Given the description of an element on the screen output the (x, y) to click on. 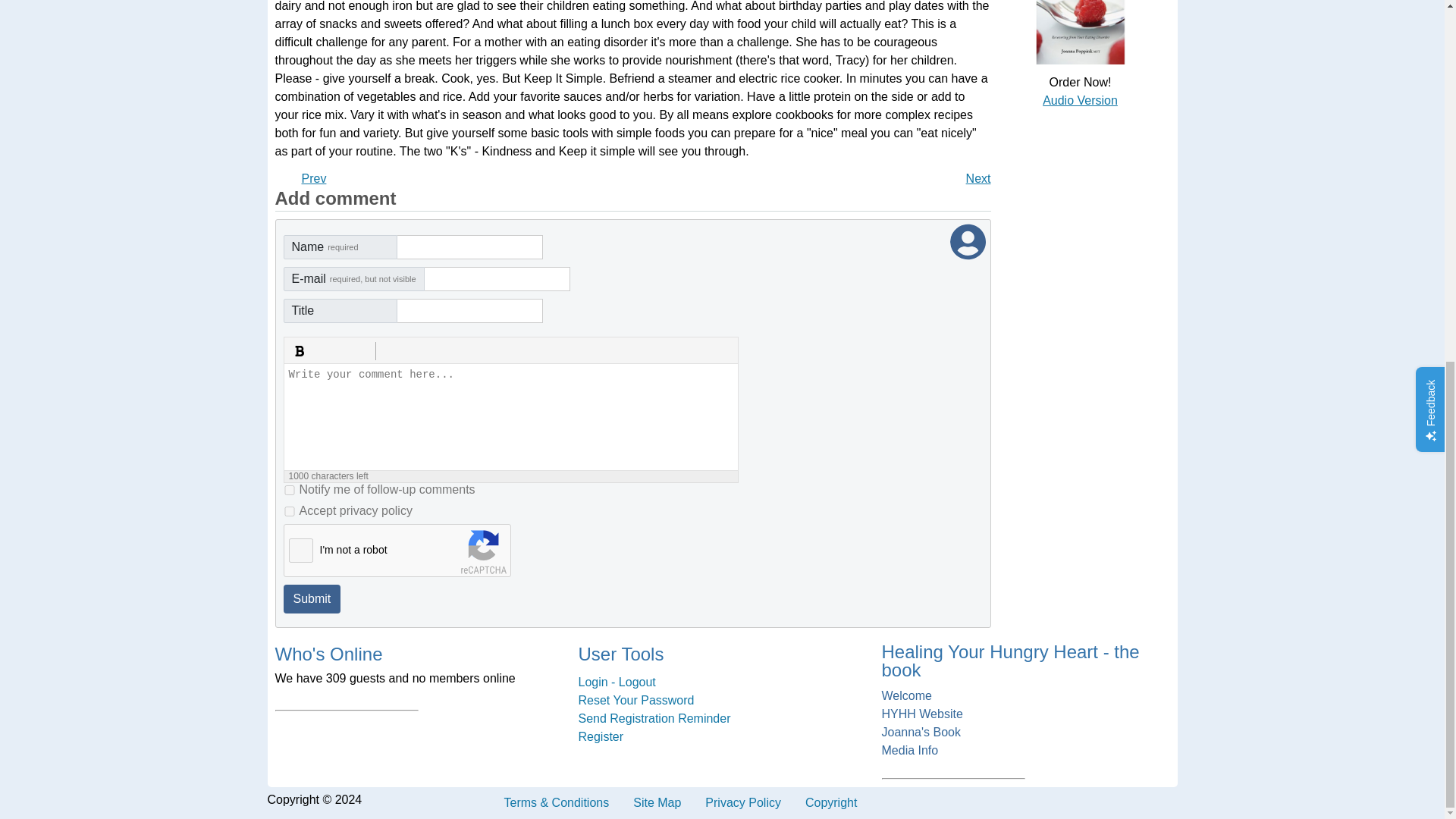
Register (722, 737)
Order online here. (1080, 100)
yes, it's very challenging. I have the a (313, 178)
Italic (320, 351)
Send Registration Reminder (722, 719)
Site Map (657, 802)
1 (289, 490)
Bold (298, 351)
Audio Version (1080, 100)
Quote (362, 351)
